Given the description of an element on the screen output the (x, y) to click on. 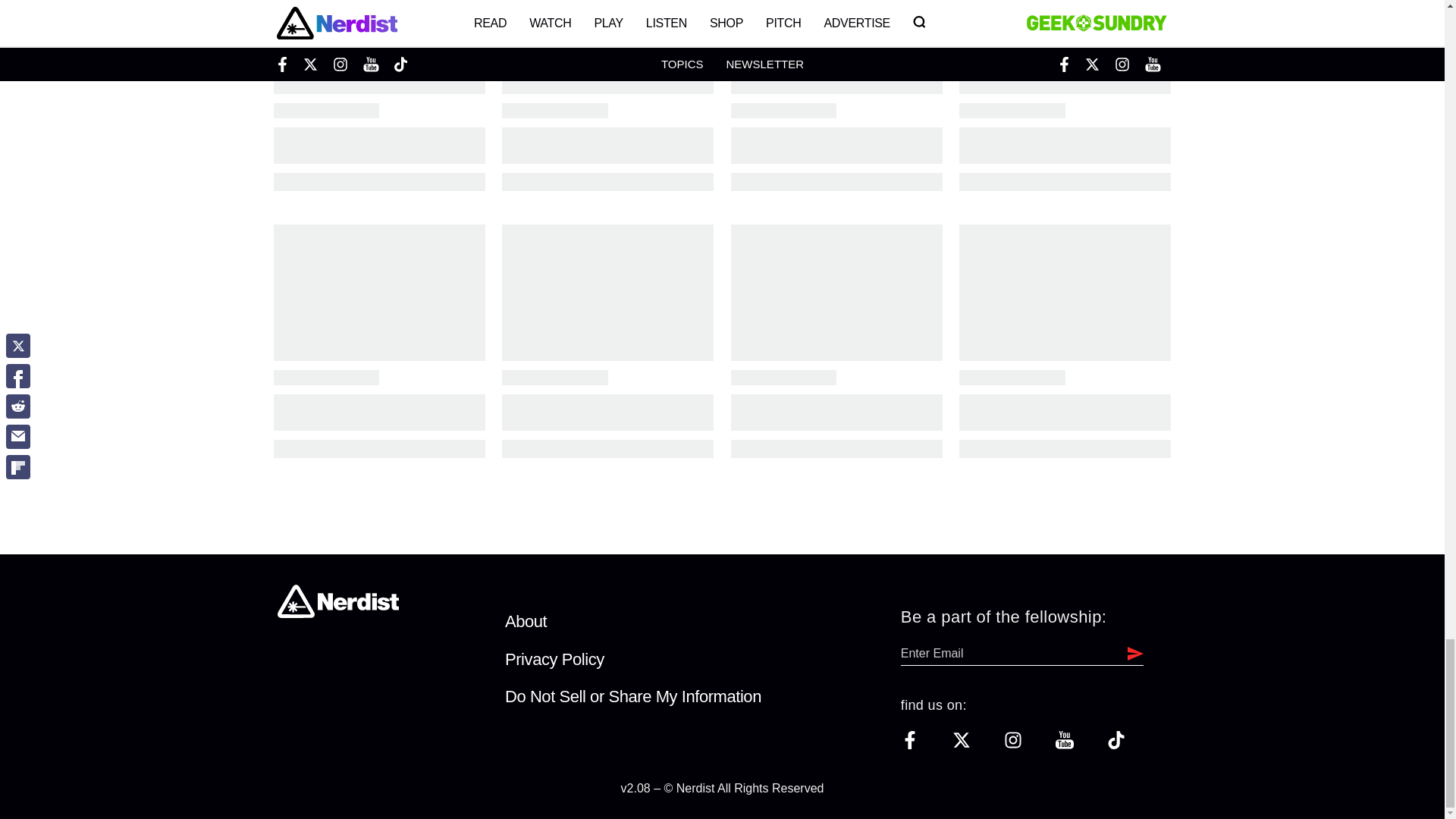
Privacy Policy (554, 659)
Do Not Sell or Share My Information (633, 696)
Sign Up (1131, 653)
About (526, 620)
